Given the description of an element on the screen output the (x, y) to click on. 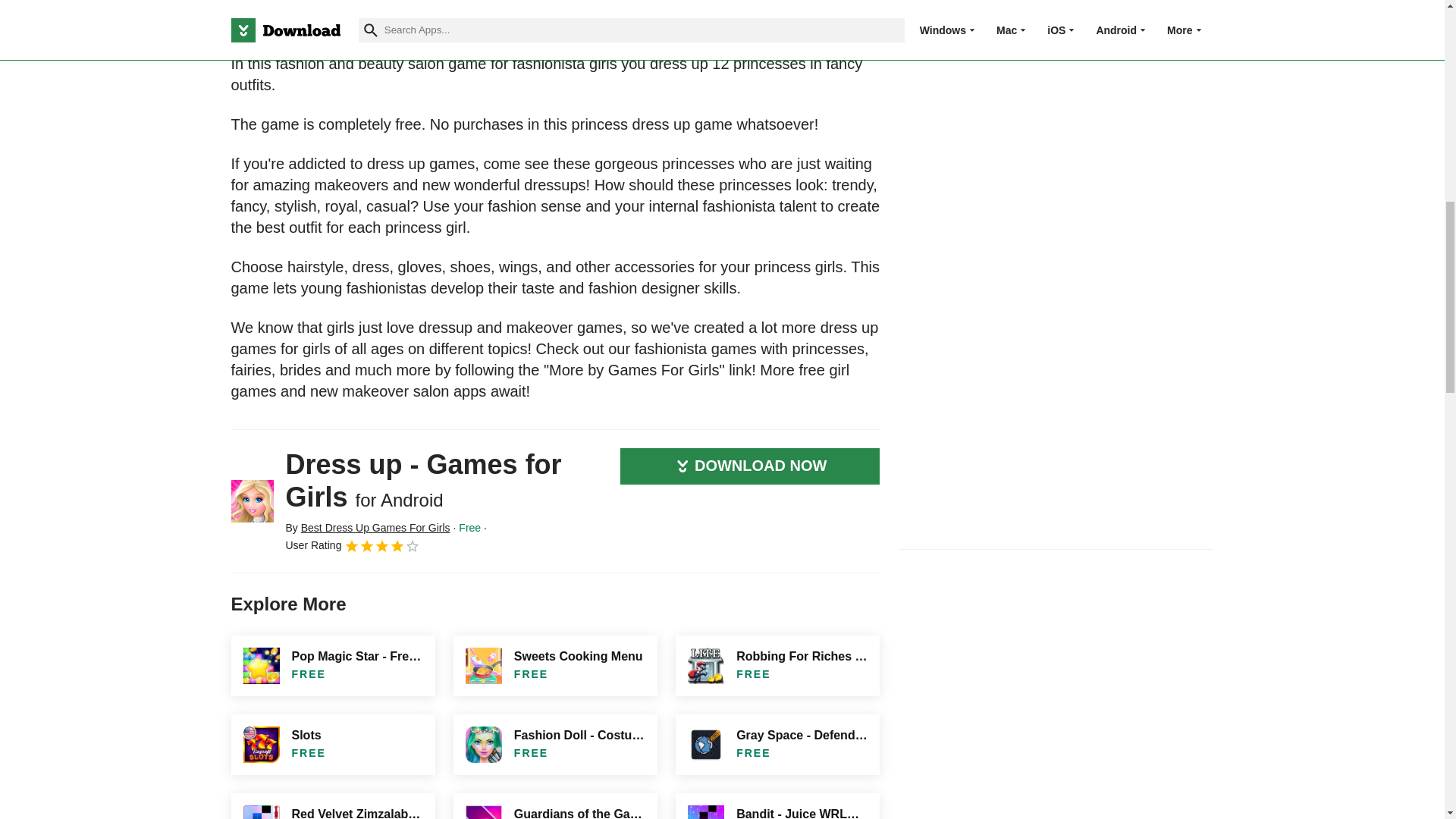
Slots (331, 744)
Fashion Doll - Costume Party (555, 744)
Sweets Cooking Menu (555, 665)
Pop Magic Star - Free Rewards (331, 665)
Bandit - Juice WRLD - NBA Youngboy - Piano Tiles (777, 806)
Gray Space - Defend Earth from Asteroids (777, 744)
Guardians of the Galaxy - Zig Zag Beat - Hooked on (555, 806)
Red Velvet Zimzalabim Piano Tiles (331, 806)
Dress up - Games for Girls for Android (251, 500)
